Given the description of an element on the screen output the (x, y) to click on. 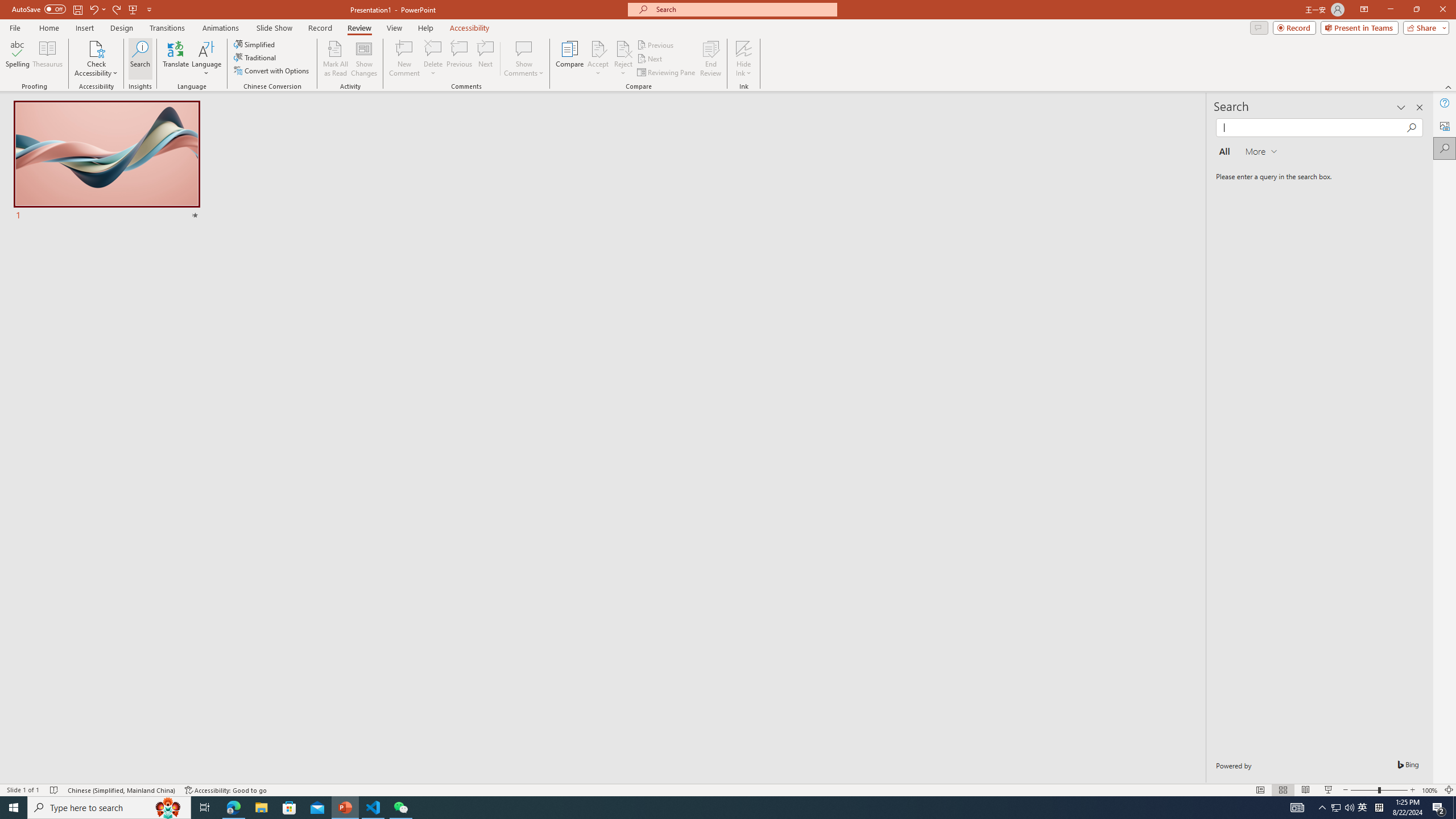
Convert with Options... (272, 69)
Mark All as Read (335, 58)
Hide Ink (743, 48)
Check Accessibility (95, 48)
New Comment (403, 58)
Show Comments (524, 48)
Simplified (254, 44)
